Given the description of an element on the screen output the (x, y) to click on. 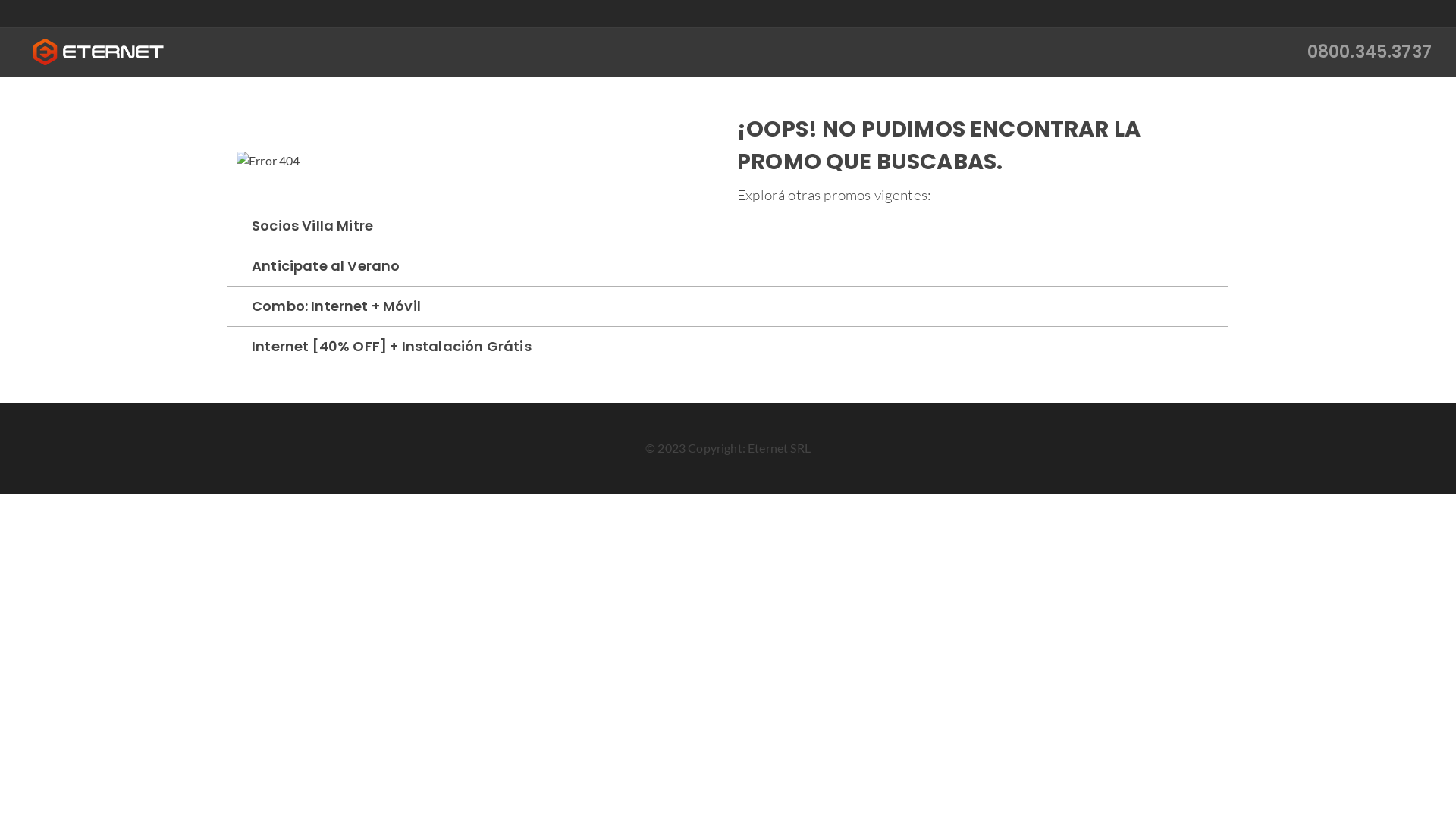
Anticipate al Verano Element type: text (727, 534)
Socios Villa Mitre Element type: text (727, 494)
